Given the description of an element on the screen output the (x, y) to click on. 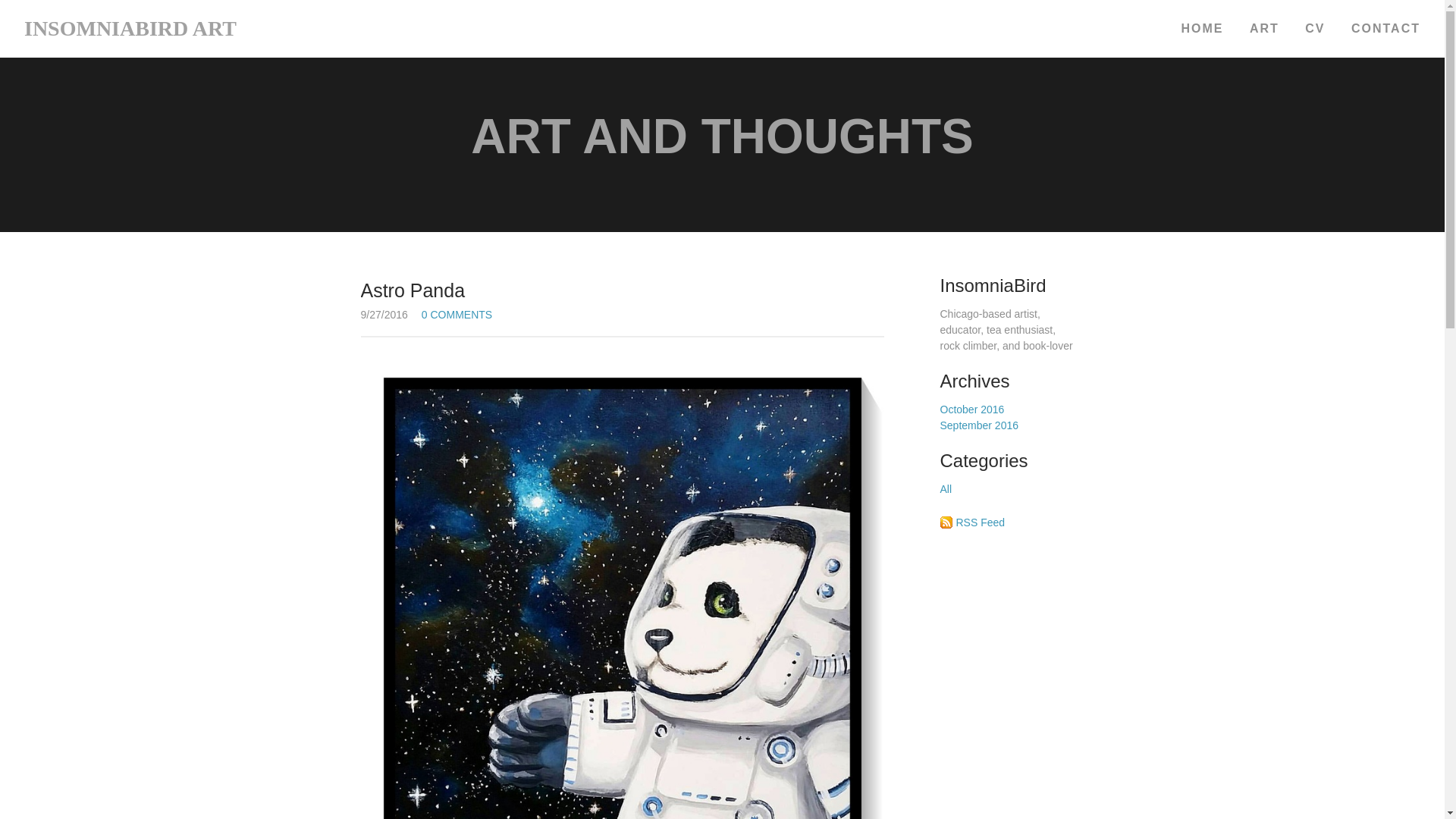
ART (1264, 28)
RSS Feed (979, 522)
Astro Panda (622, 290)
CONTACT (1380, 28)
All (946, 489)
September 2016 (979, 425)
INSOMNIABIRD ART (129, 28)
0 COMMENTS (457, 313)
HOME (1195, 28)
October 2016 (972, 409)
